Given the description of an element on the screen output the (x, y) to click on. 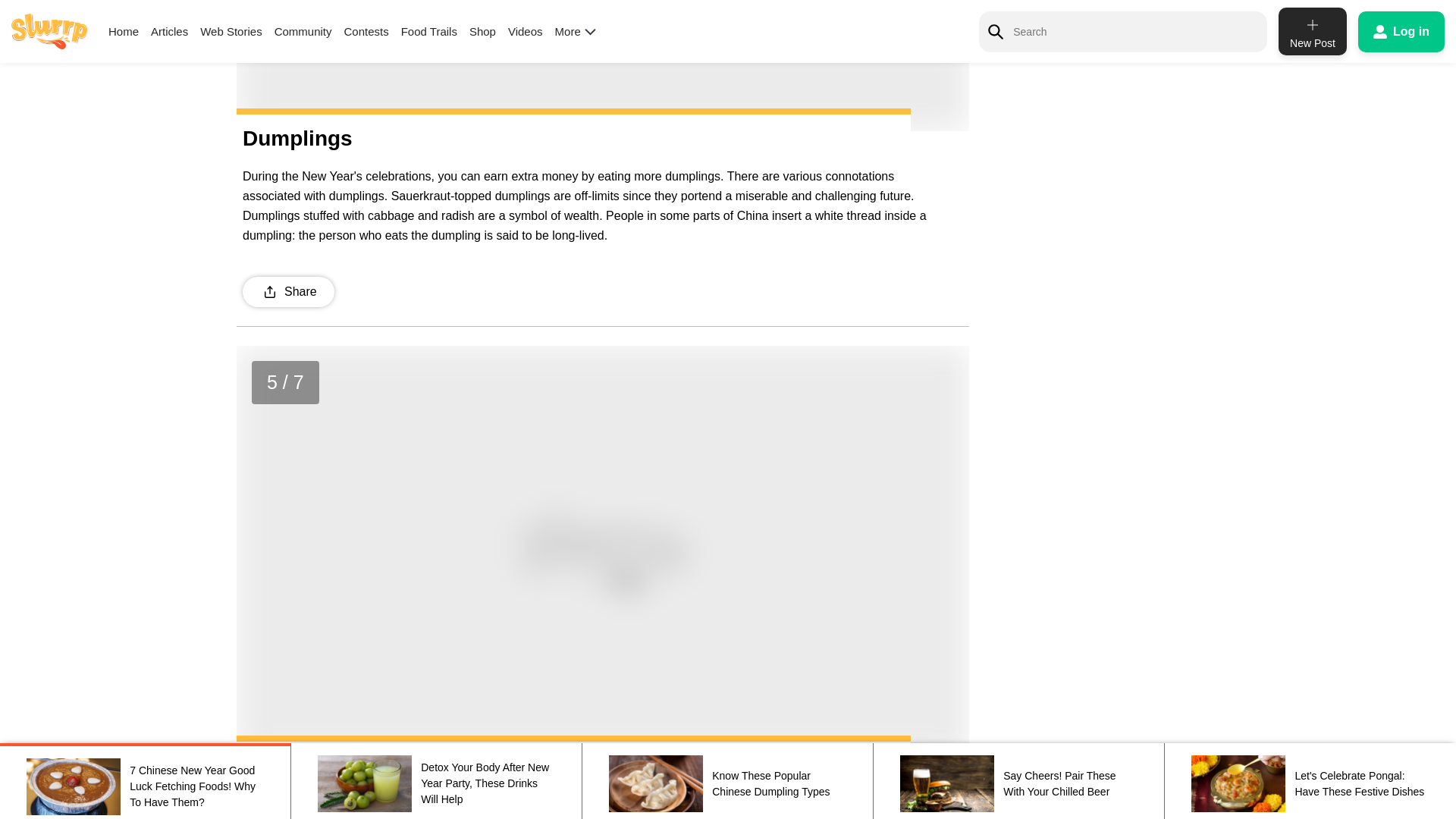
Dumplings (602, 65)
